Given the description of an element on the screen output the (x, y) to click on. 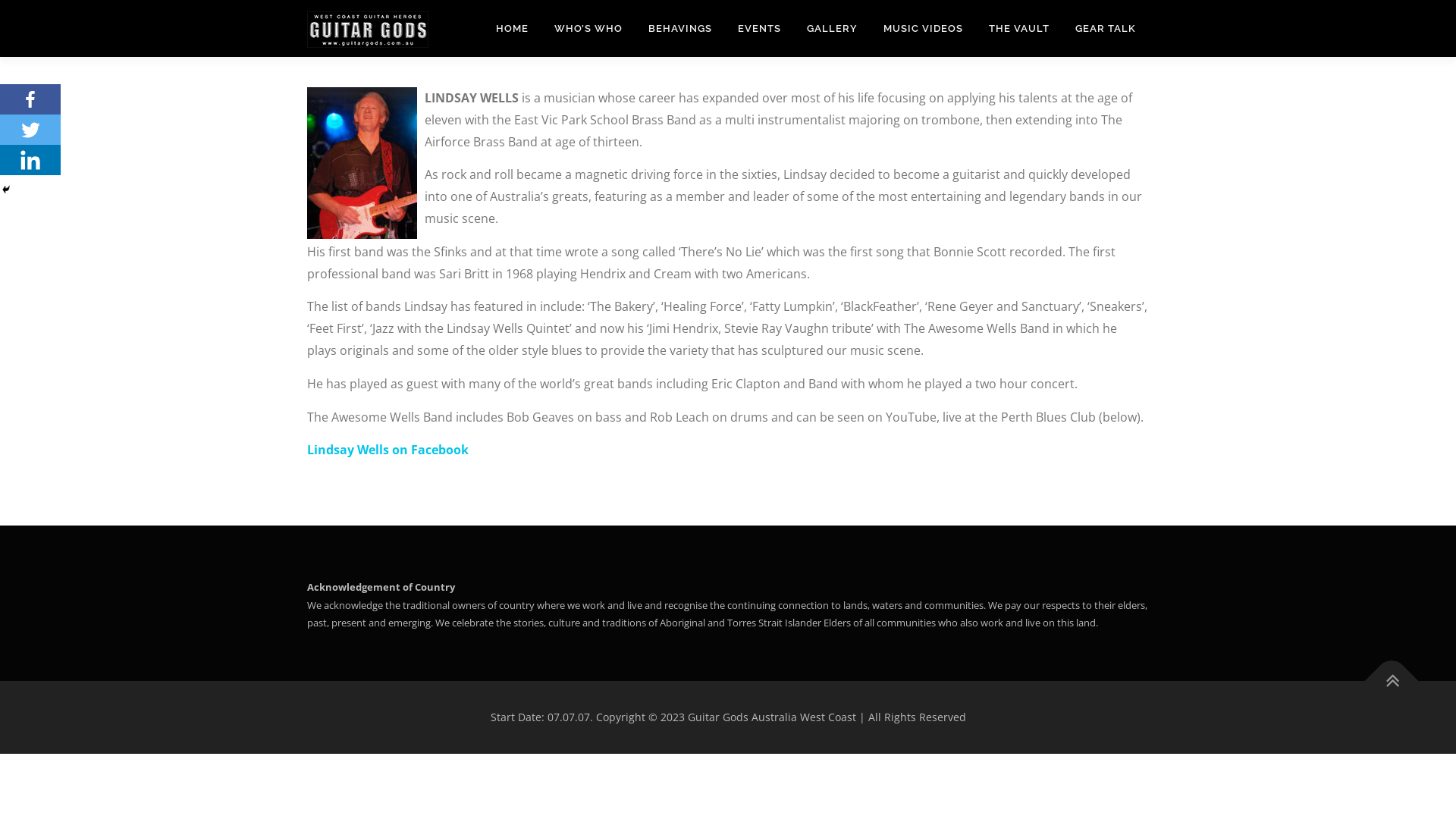
Lindsay Wells on Facebook Element type: text (387, 449)
Linkedin Element type: hover (30, 159)
THE VAULT Element type: text (1018, 28)
GEAR TALK Element type: text (1105, 28)
Facebook Element type: hover (30, 99)
EVENTS Element type: text (758, 28)
Twitter Element type: hover (30, 129)
GALLERY Element type: text (831, 28)
BEHAVINGS Element type: text (679, 28)
HOME Element type: text (512, 28)
Hide Element type: hover (6, 189)
Back To Top Element type: hover (1383, 673)
MUSIC VIDEOS Element type: text (922, 28)
